Given the description of an element on the screen output the (x, y) to click on. 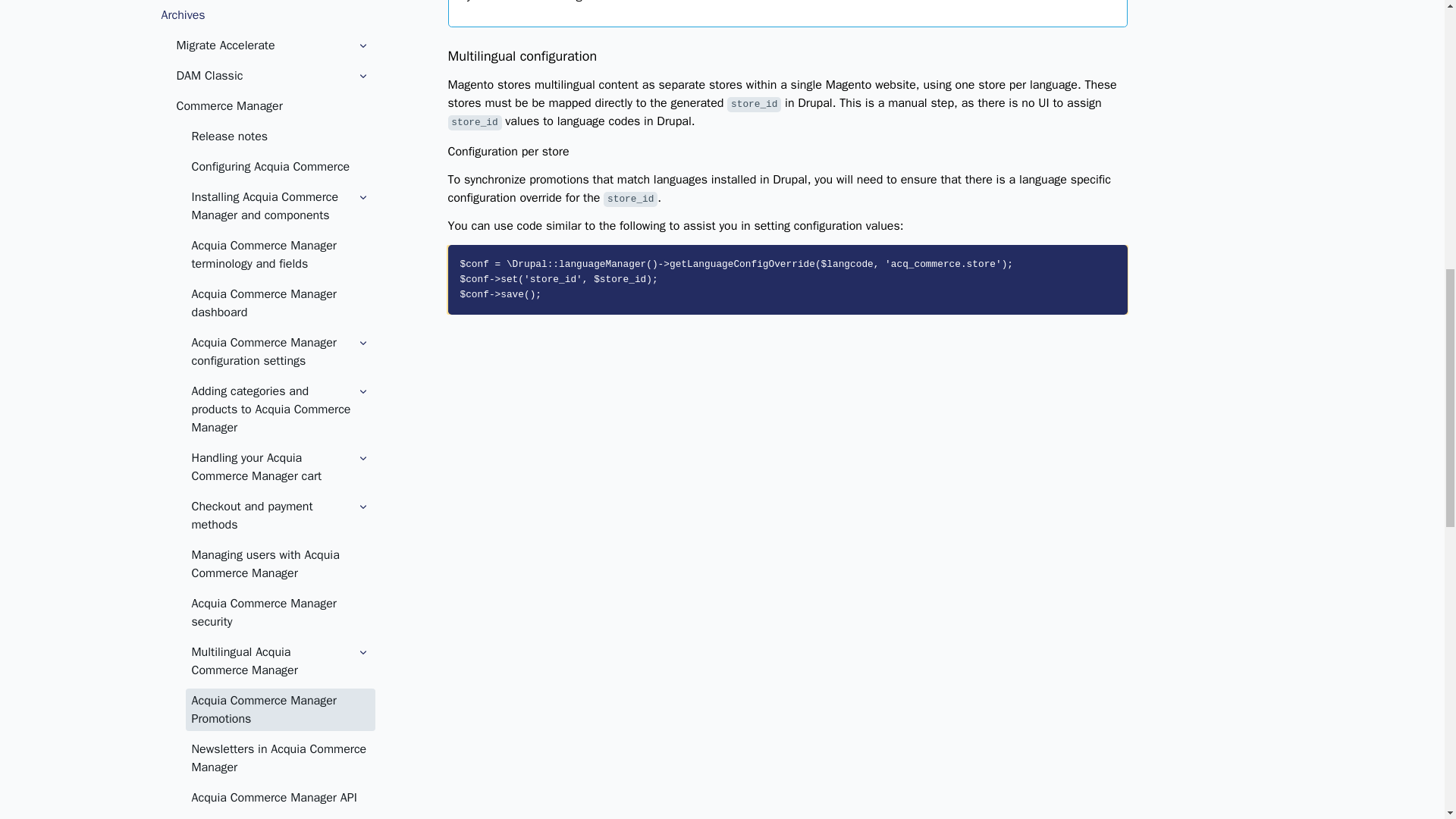
Installing Acquia Commerce Manager and components (270, 206)
Commerce Manager (272, 105)
DAM Classic (263, 75)
Archives (264, 15)
Archives (264, 14)
Migrate Accelerate (272, 45)
Migrate Accelerate (263, 45)
DAM Classic (272, 75)
Commerce Manager (272, 106)
Configuring Acquia Commerce (279, 166)
